Given the description of an element on the screen output the (x, y) to click on. 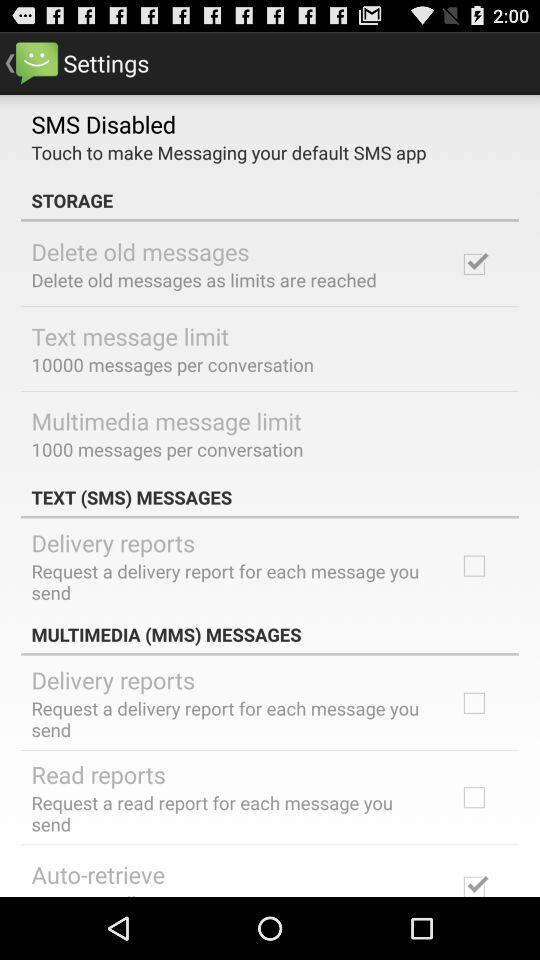
turn on the item below auto-retrieve item (164, 893)
